Given the description of an element on the screen output the (x, y) to click on. 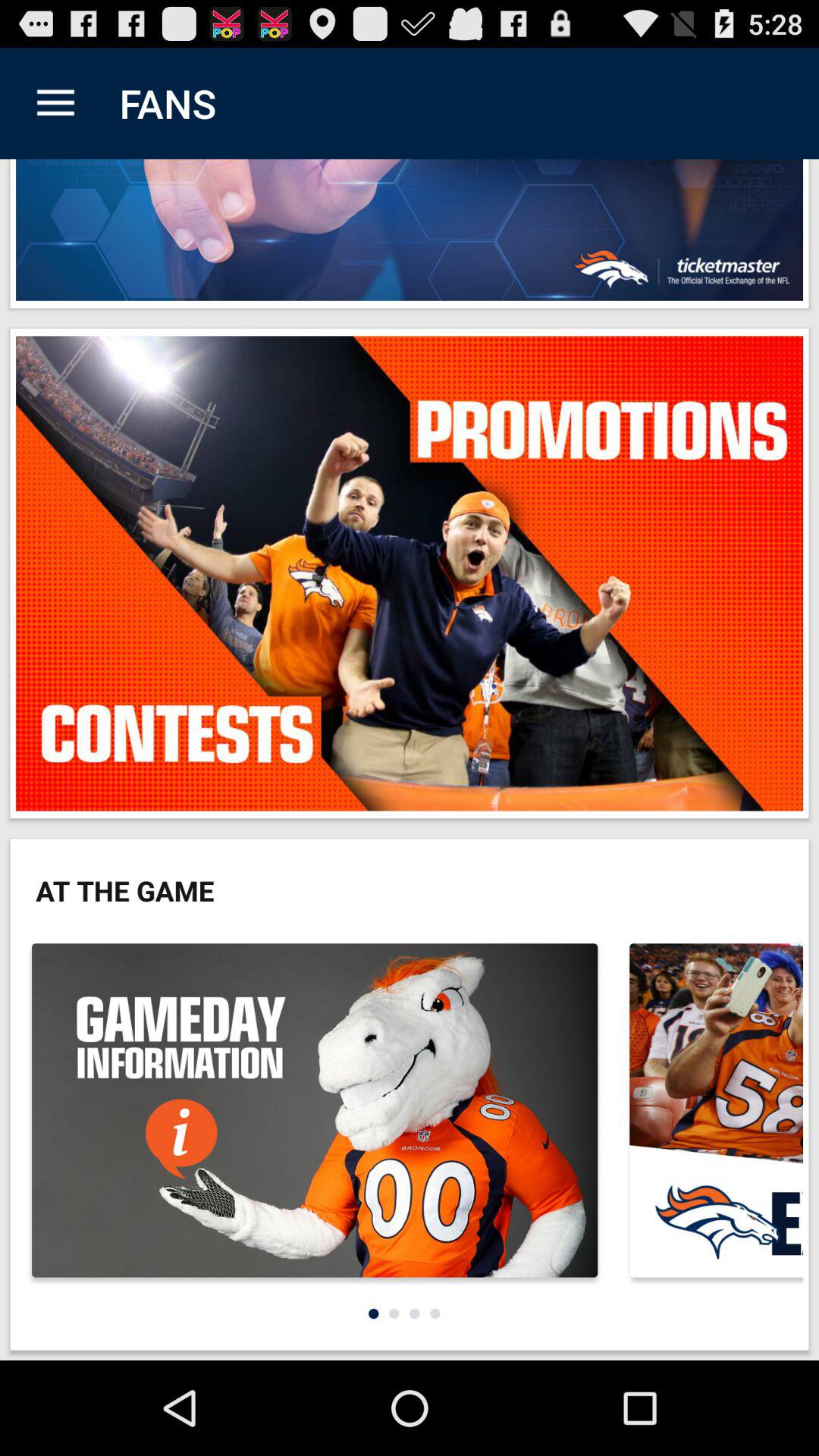
open the icon next to the fans item (55, 103)
